Given the description of an element on the screen output the (x, y) to click on. 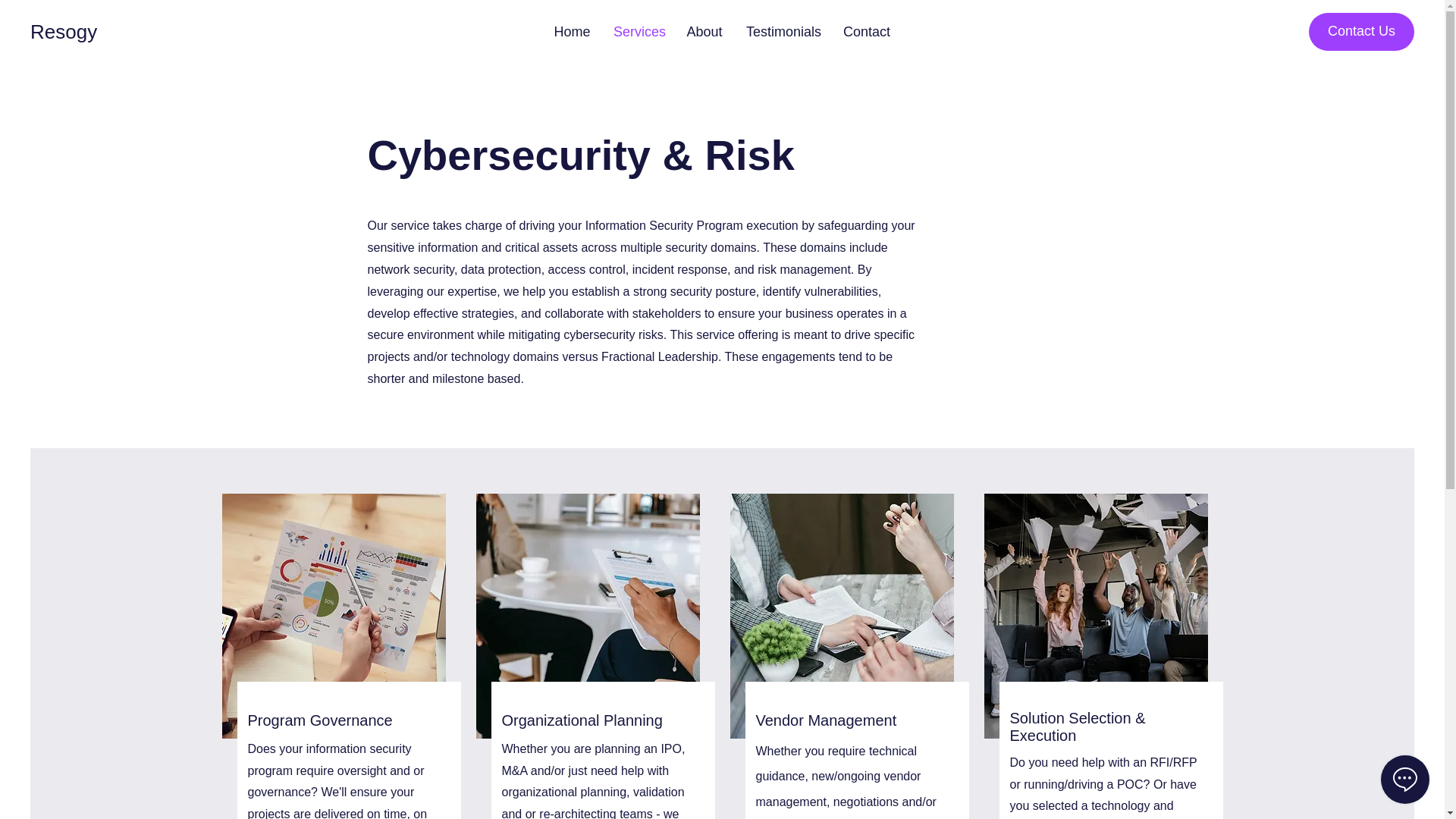
Contact Us (1360, 31)
Services (638, 31)
Resogy  (65, 31)
About (704, 31)
Contact (866, 31)
Home (571, 31)
Testimonials (783, 31)
